Given the description of an element on the screen output the (x, y) to click on. 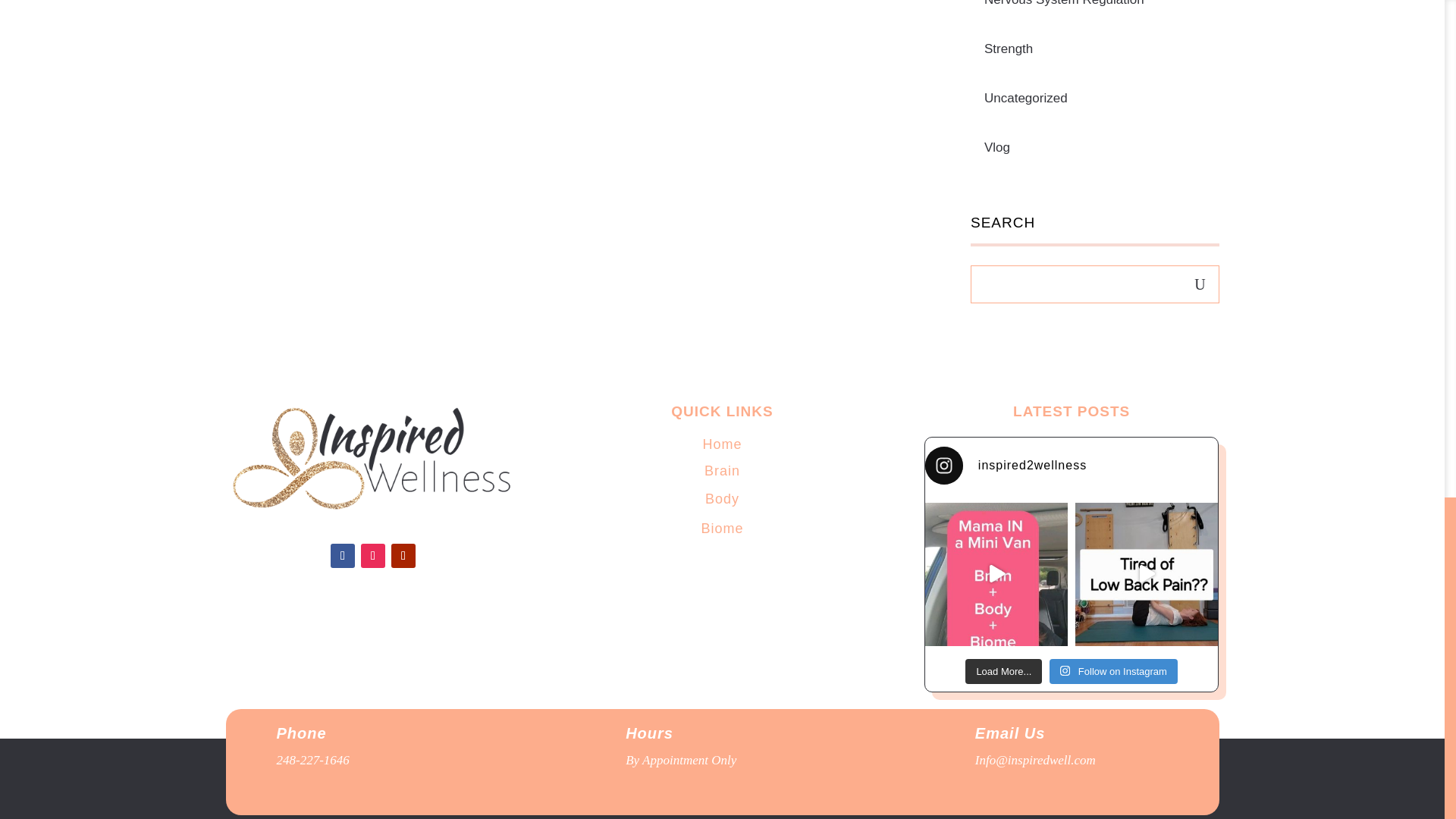
Search (1200, 280)
Follow on Youtube (402, 555)
Follow on Instagram (373, 555)
Follow on Facebook (342, 555)
kh - logo web2 (373, 459)
